Given the description of an element on the screen output the (x, y) to click on. 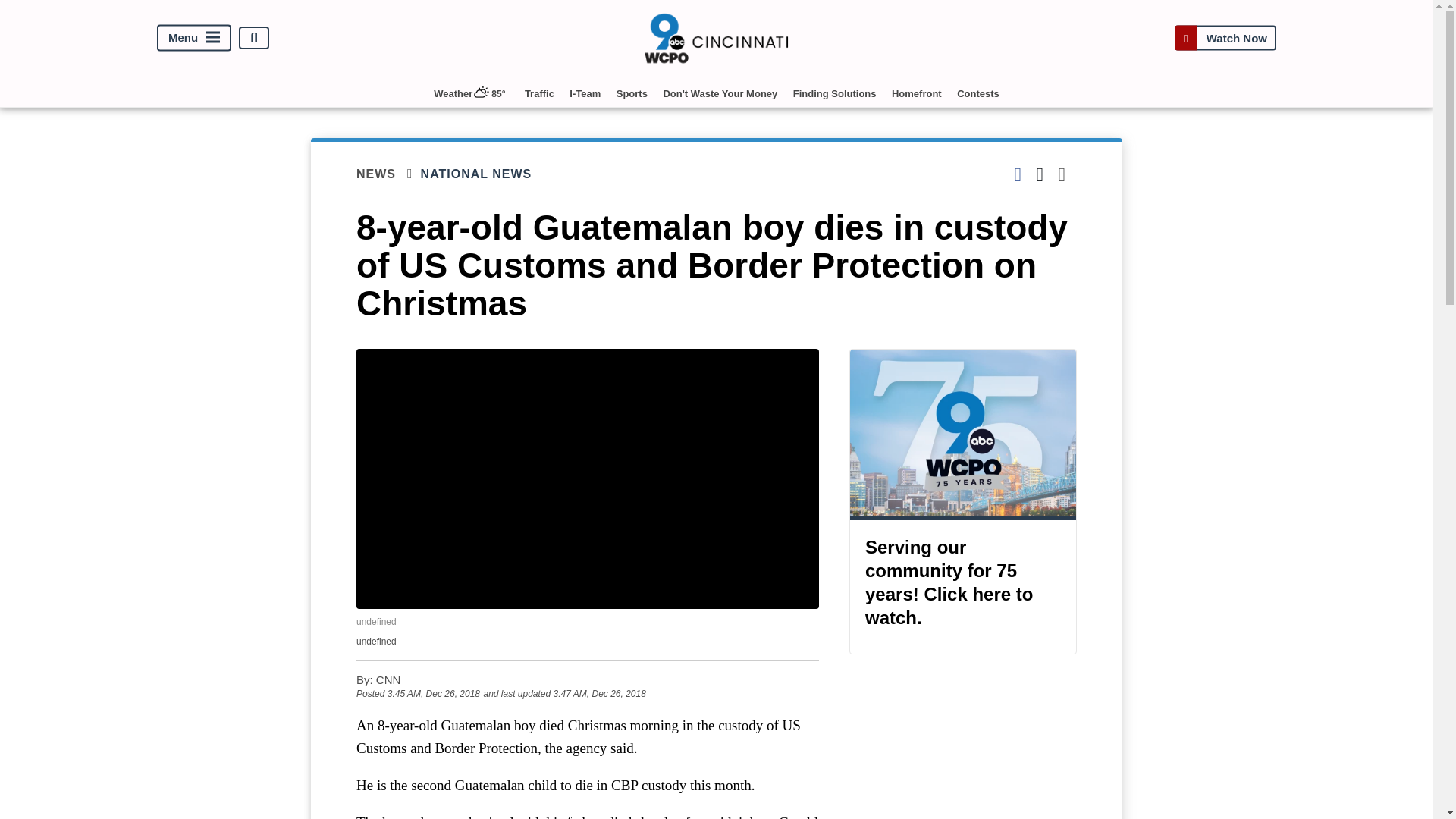
Menu (194, 38)
Watch Now (1224, 38)
